Given the description of an element on the screen output the (x, y) to click on. 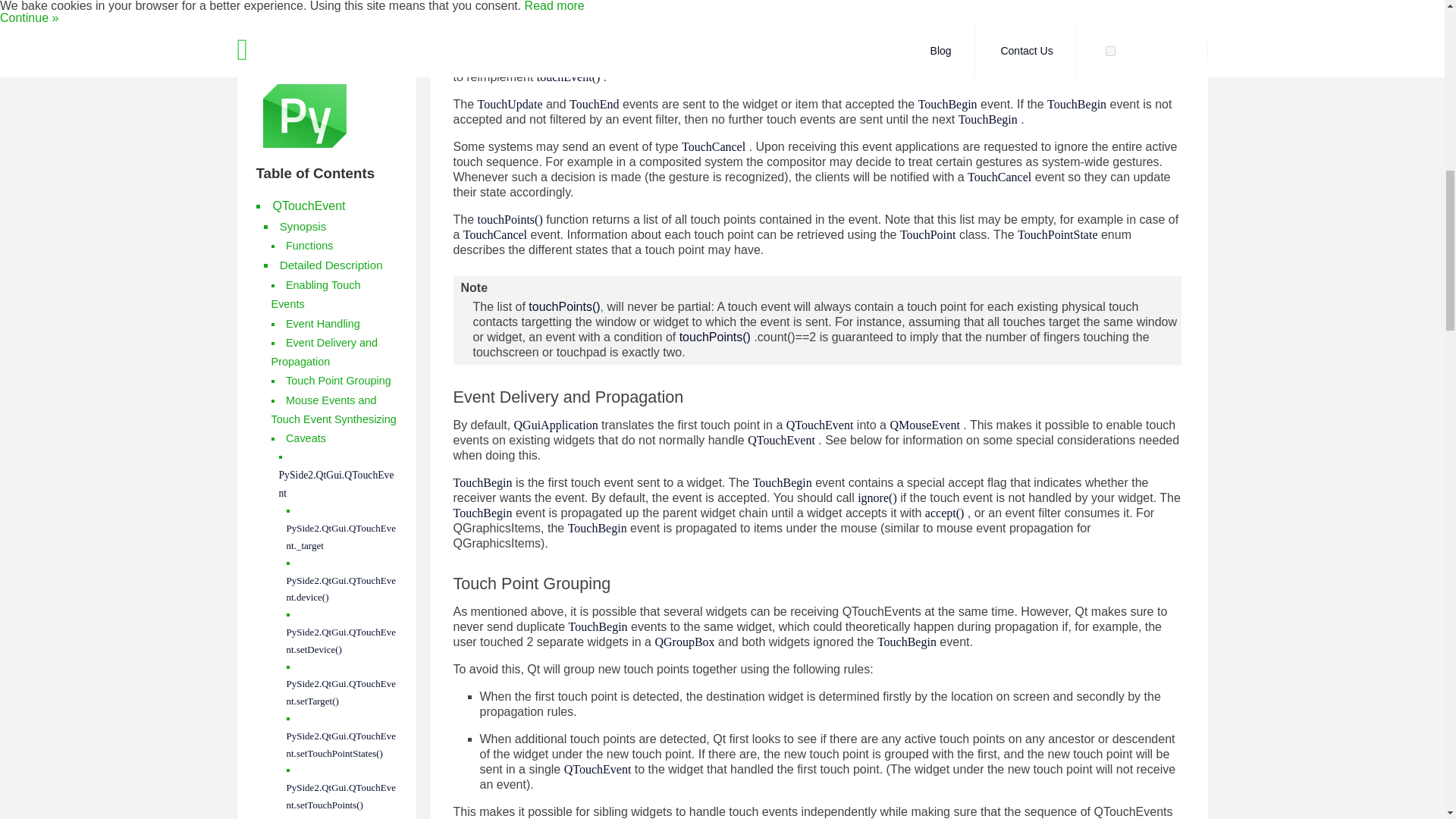
previous chapter (295, 332)
Go (383, 445)
next chapter (285, 380)
